Given the description of an element on the screen output the (x, y) to click on. 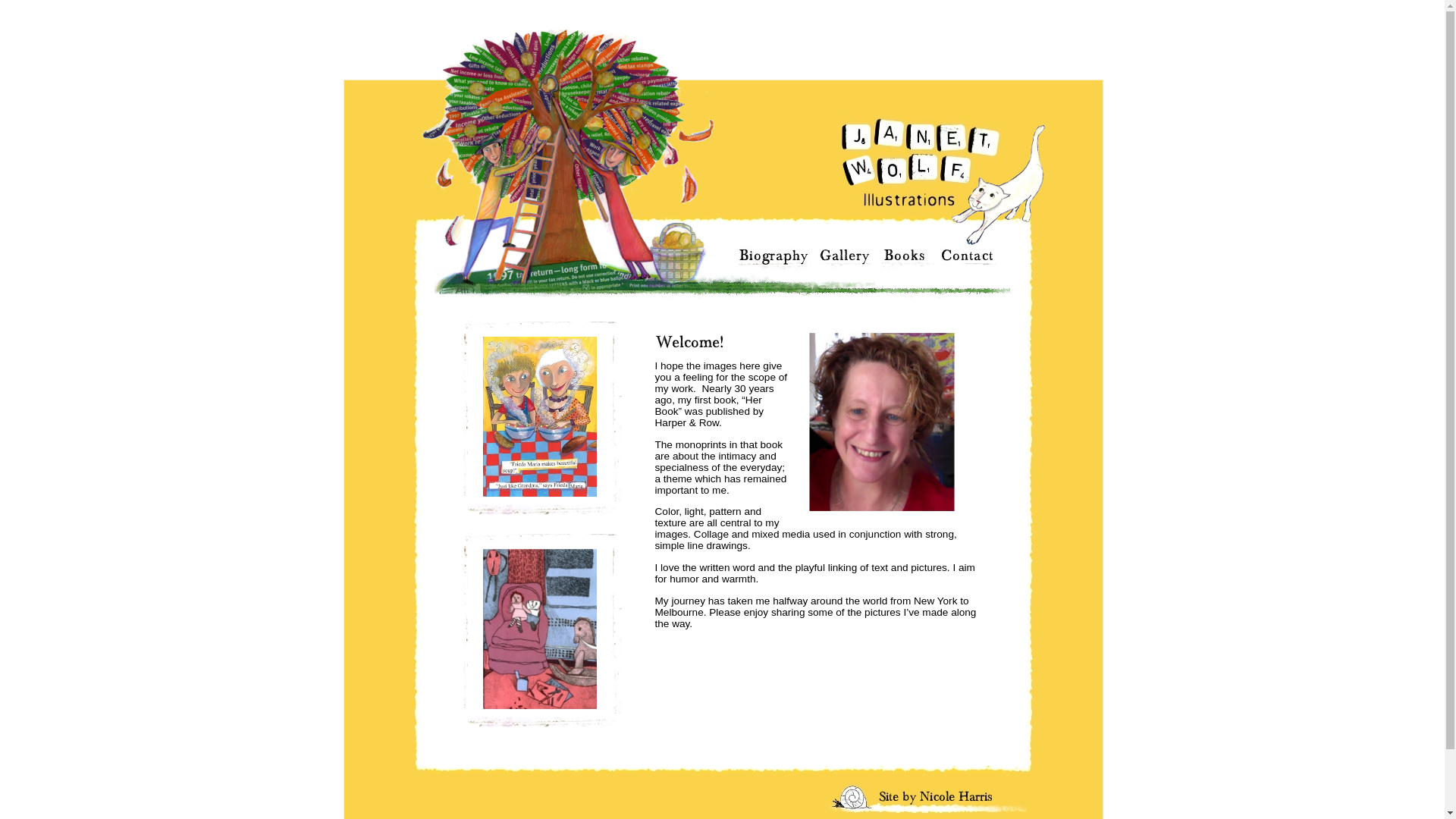
Janet Wolf Element type: hover (883, 429)
welcome Element type: hover (690, 341)
whoisnicoleharris.com Element type: hover (927, 799)
